Given the description of an element on the screen output the (x, y) to click on. 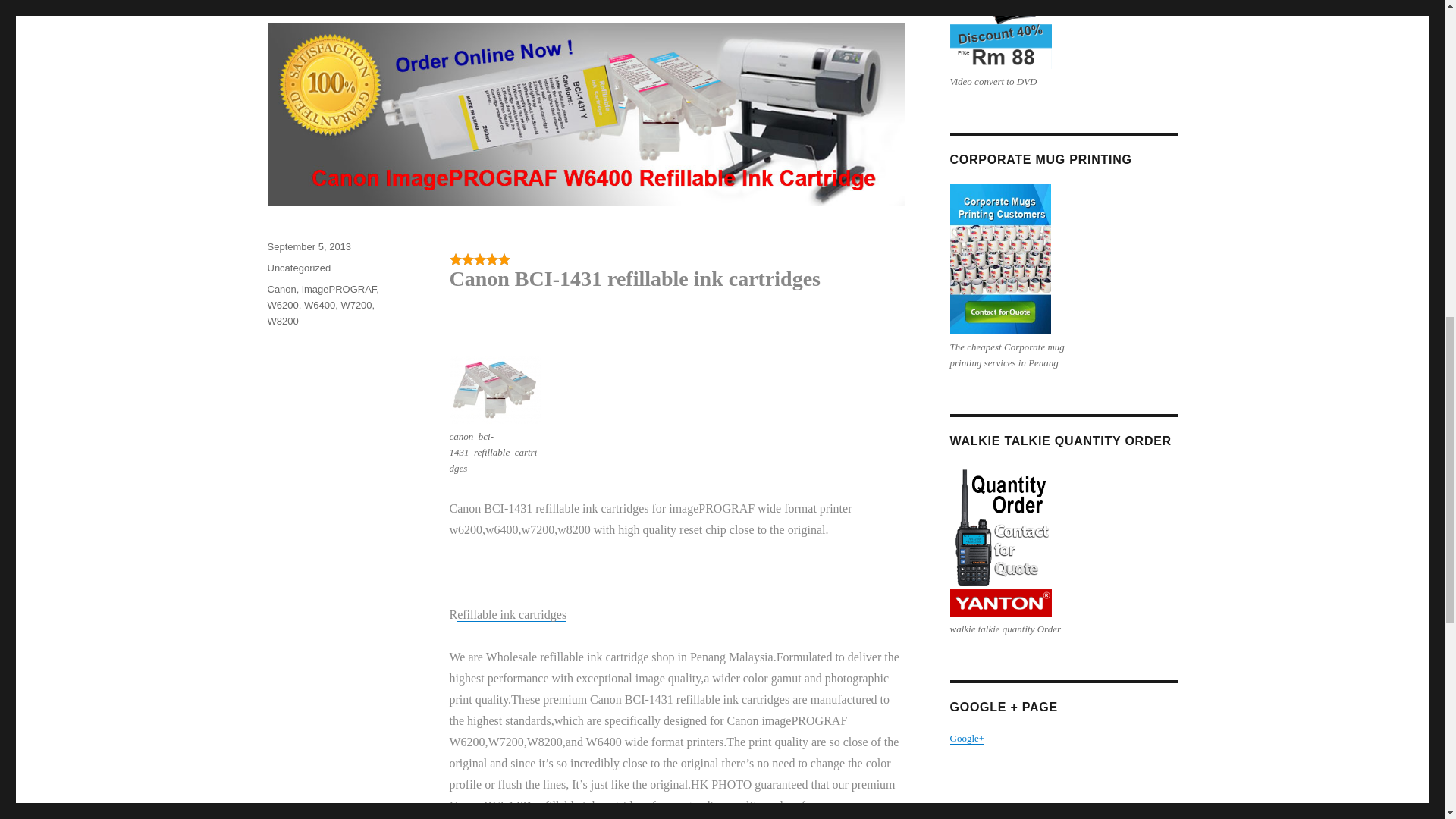
5 (478, 259)
refillable ink cartridge (511, 614)
 canon refillable ink cartridges (494, 389)
Video convert to DVD (1000, 34)
